Given the description of an element on the screen output the (x, y) to click on. 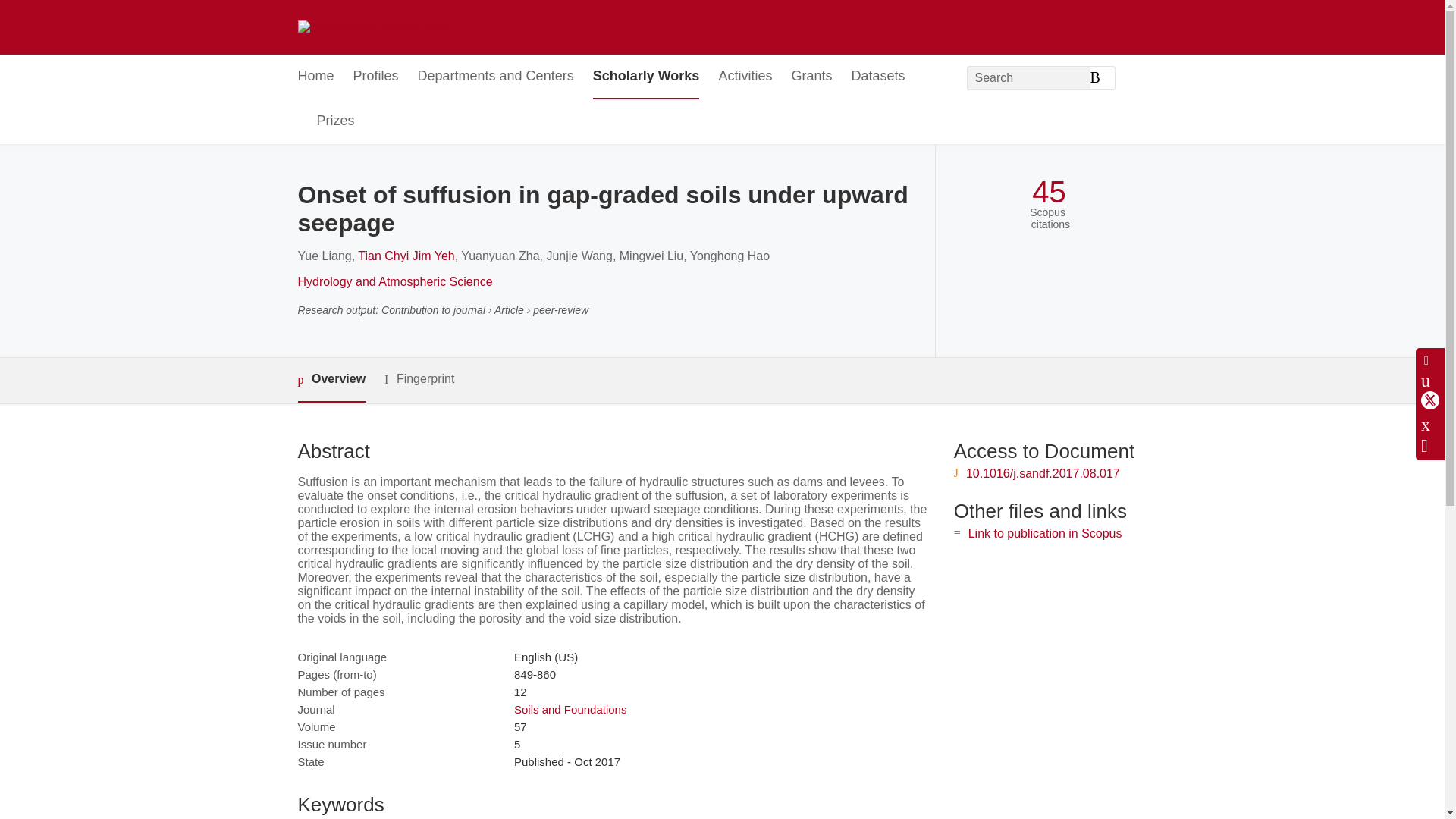
Fingerprint (419, 379)
University of Arizona Home (373, 27)
Departments and Centers (495, 76)
Scholarly Works (646, 76)
Soils and Foundations (569, 708)
45 (1048, 192)
Hydrology and Atmospheric Science (394, 281)
Overview (331, 379)
Datasets (877, 76)
